Given the description of an element on the screen output the (x, y) to click on. 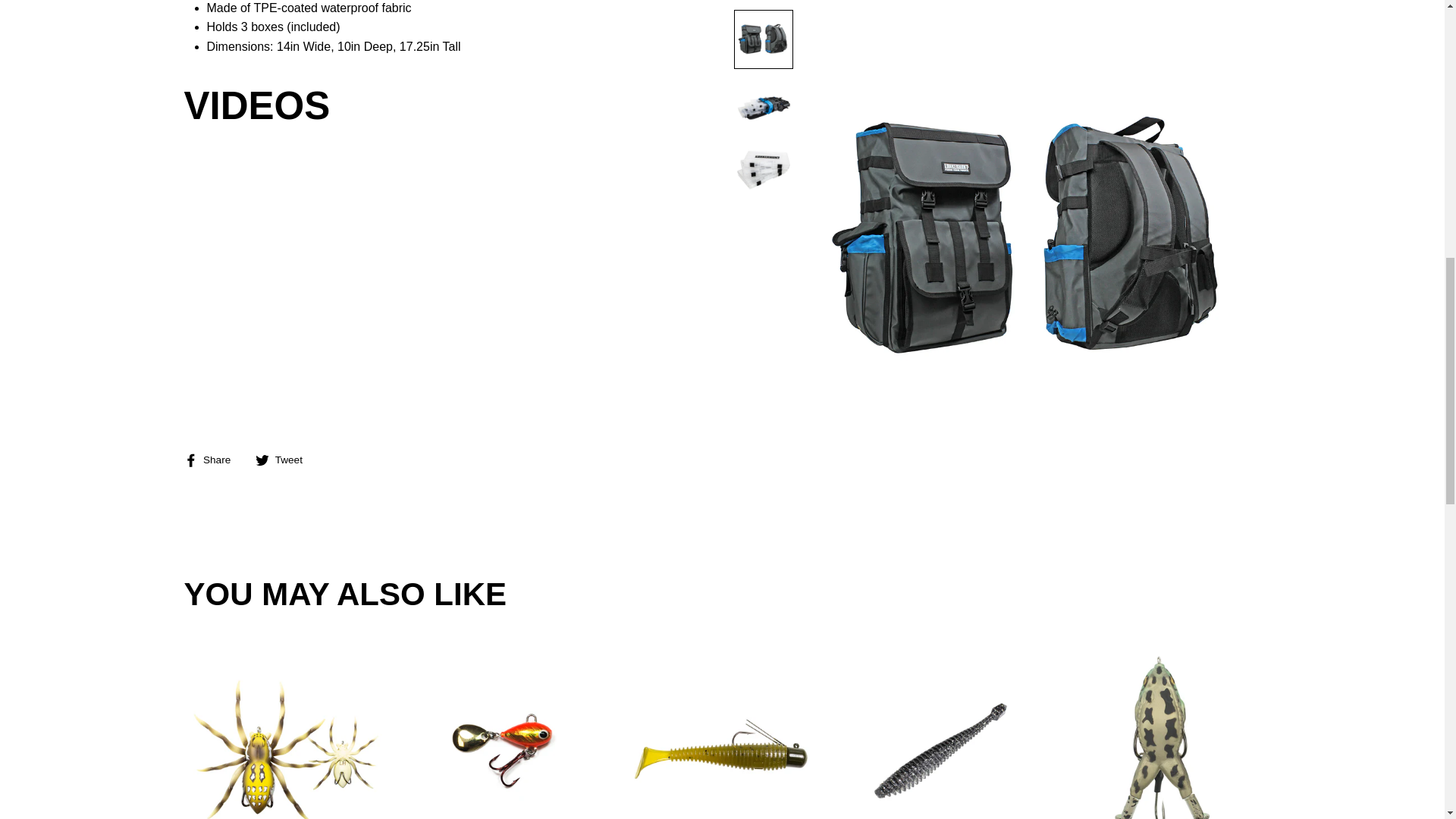
Tweet on Twitter (285, 459)
Share on Facebook (212, 459)
